Given the description of an element on the screen output the (x, y) to click on. 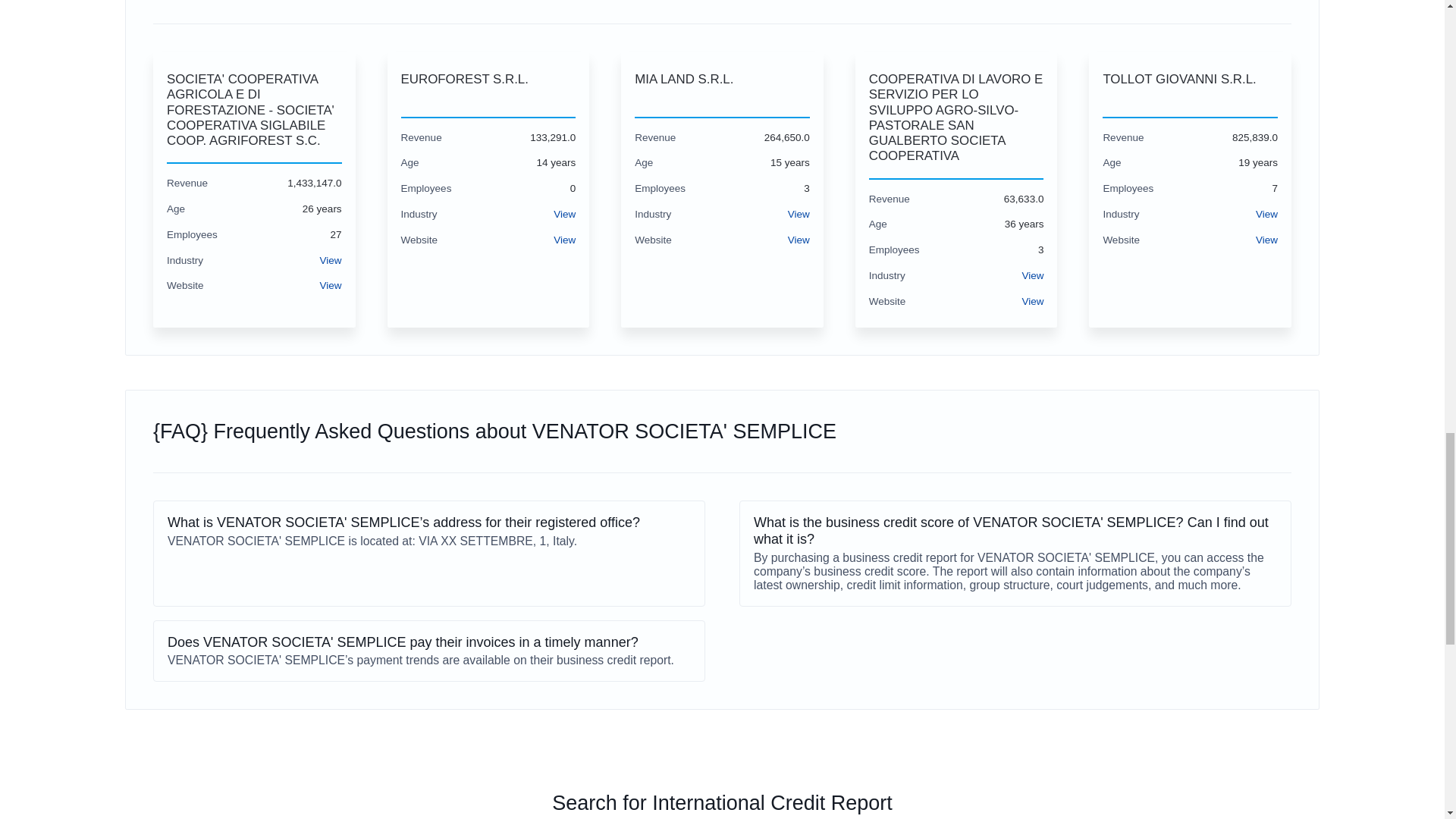
EUROFOREST S.R.L. (488, 87)
MIA LAND S.R.L. (721, 87)
TOLLOT GIOVANNI S.R.L. (1190, 87)
